Given the description of an element on the screen output the (x, y) to click on. 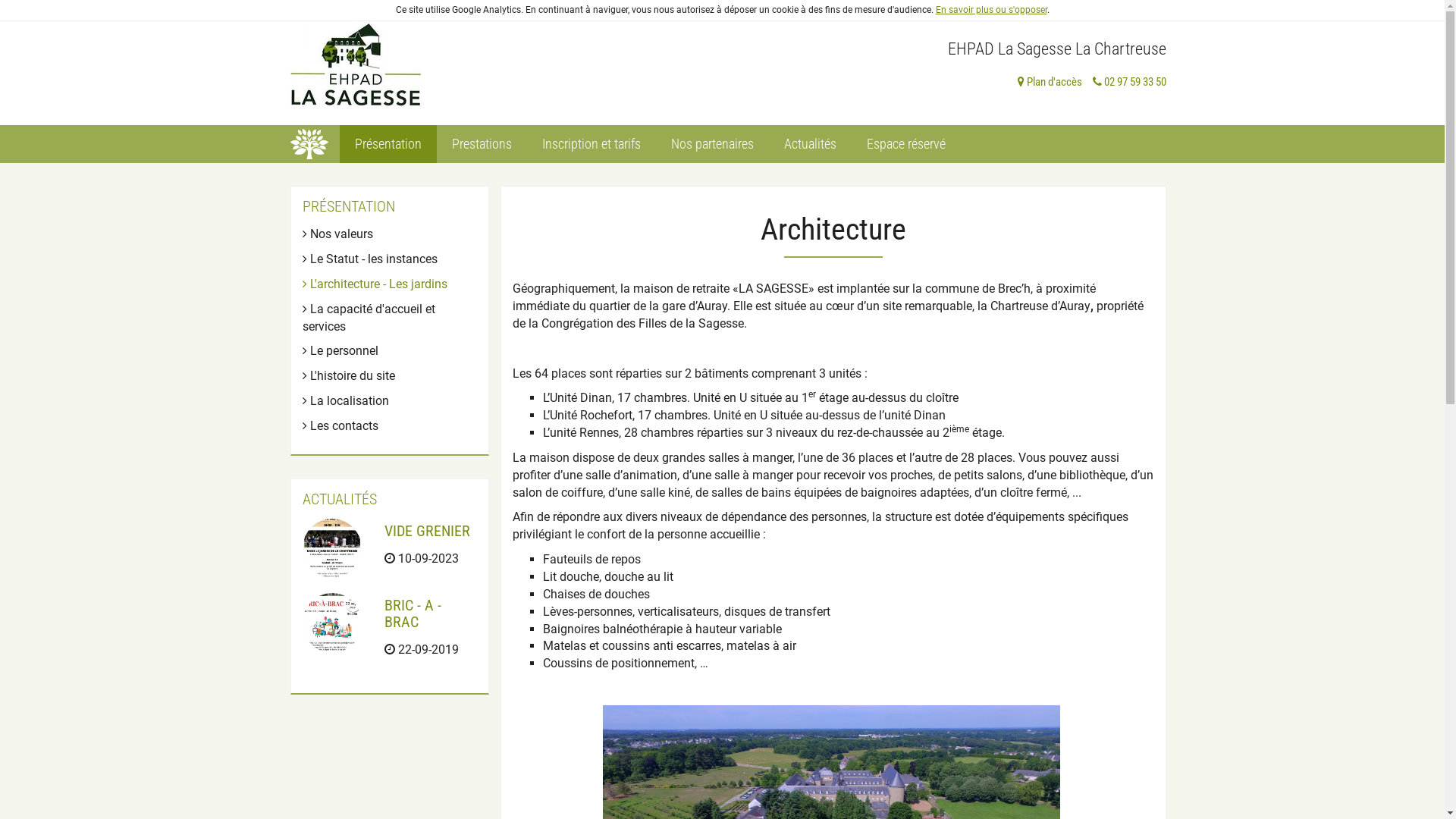
Le personnel Element type: text (339, 350)
BRIC - A - BRAC Element type: text (412, 613)
02 97 59 33 50 Element type: text (1124, 82)
Inscription et tarifs Element type: text (590, 144)
Nos valeurs Element type: text (336, 233)
Accueil Element type: text (313, 142)
Nos partenaires Element type: text (711, 144)
Le Statut - les instances Element type: text (368, 258)
Les contacts Element type: text (339, 425)
L'histoire du site Element type: text (347, 375)
VIDE GRENIER Element type: text (427, 530)
La localisation Element type: text (344, 400)
Prestations Element type: text (481, 144)
En savoir plus ou s'opposer Element type: text (991, 9)
